Given the description of an element on the screen output the (x, y) to click on. 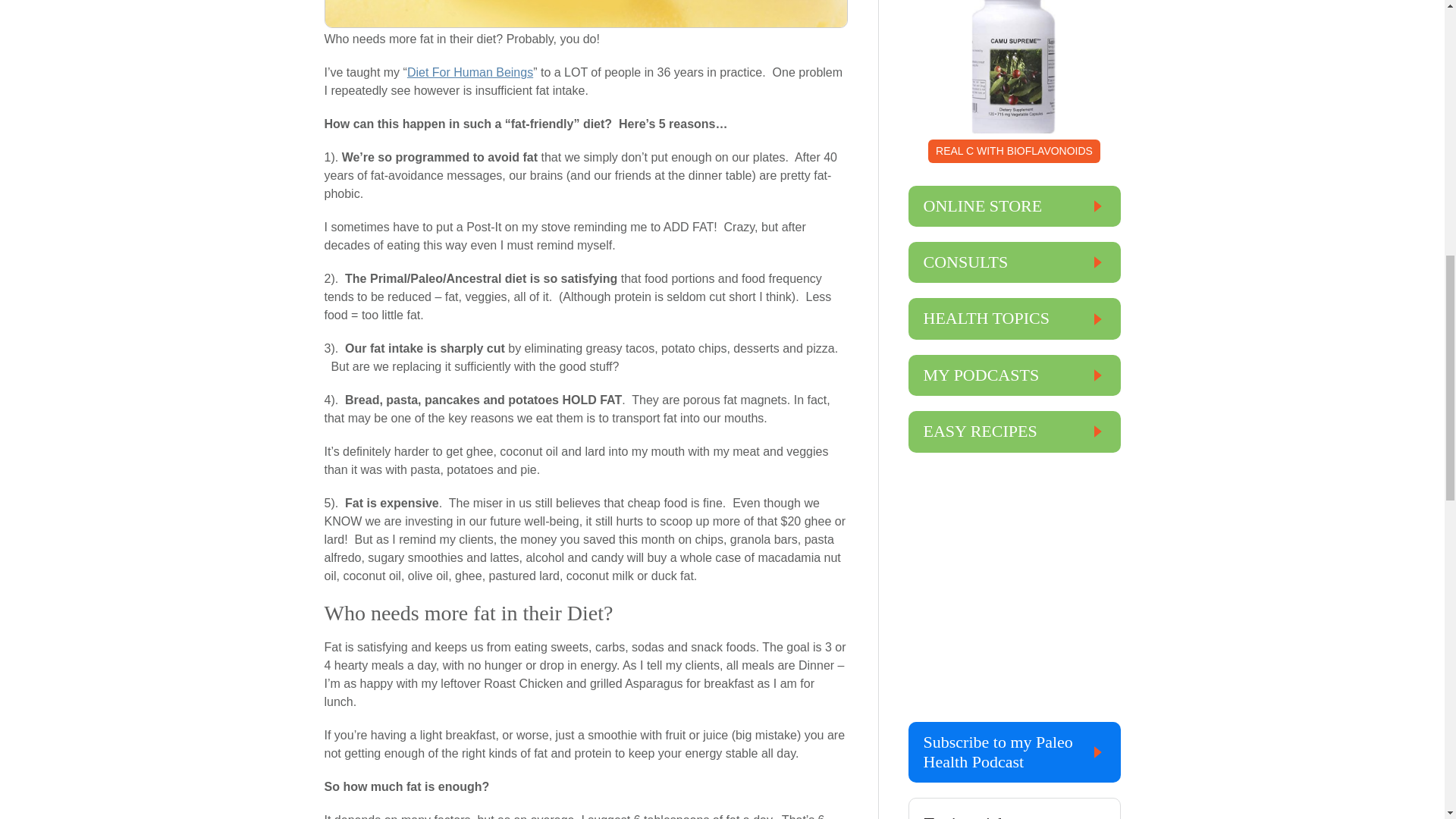
Diet For Human Beings (469, 72)
Diet For Human Beings DVD (469, 72)
